Given the description of an element on the screen output the (x, y) to click on. 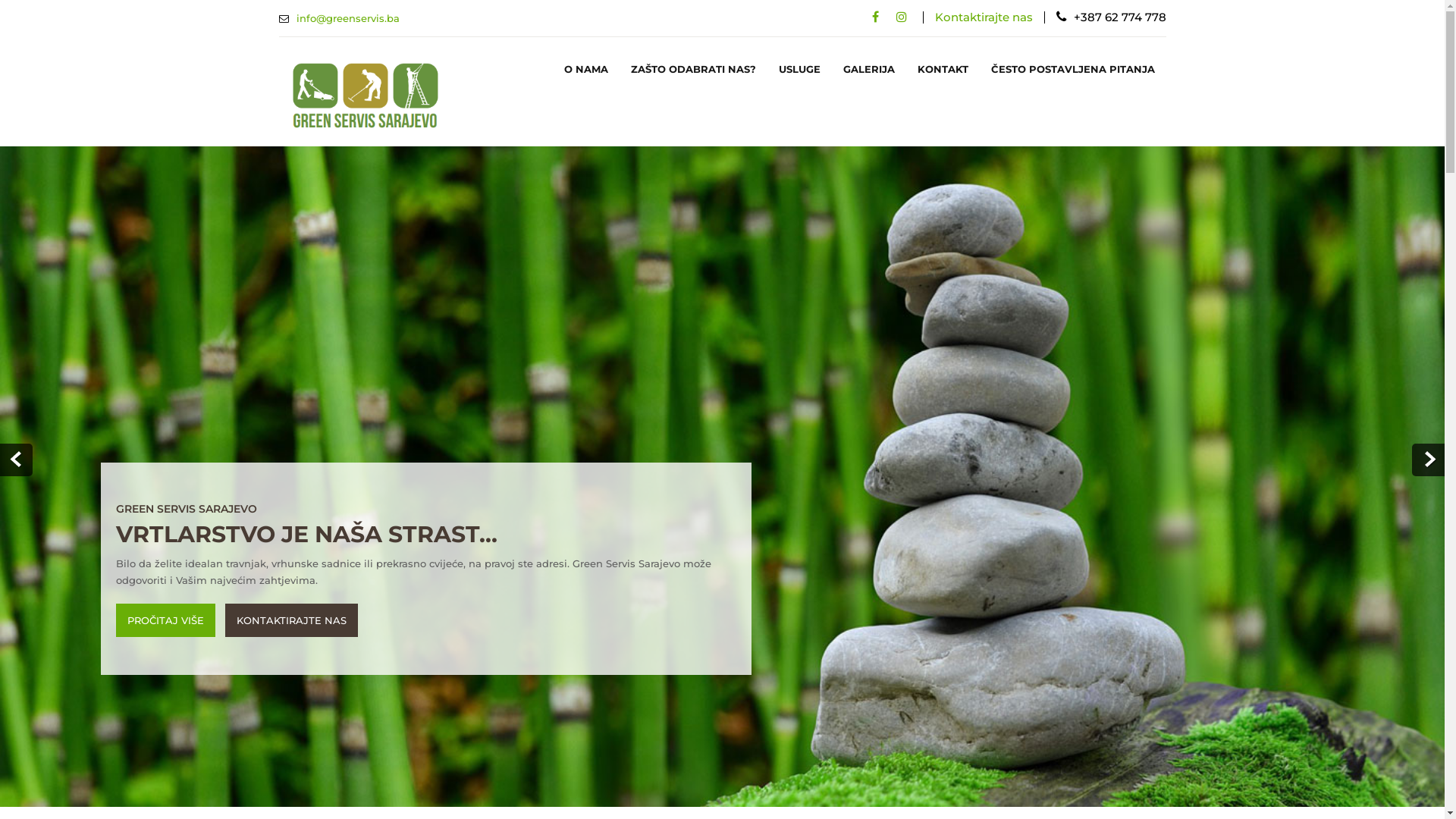
KONTAKTIRAJTE NAS Element type: text (291, 620)
info@greenservis.ba Element type: text (346, 18)
Kontaktirajte nas Element type: text (983, 16)
O NAMA Element type: text (585, 69)
KONTAKT Element type: text (942, 69)
Prev Element type: text (16, 459)
Next Element type: text (1428, 459)
GALERIJA Element type: text (868, 69)
facebook Element type: hover (874, 16)
USLUGE Element type: text (799, 69)
instagram Element type: hover (901, 16)
